Given the description of an element on the screen output the (x, y) to click on. 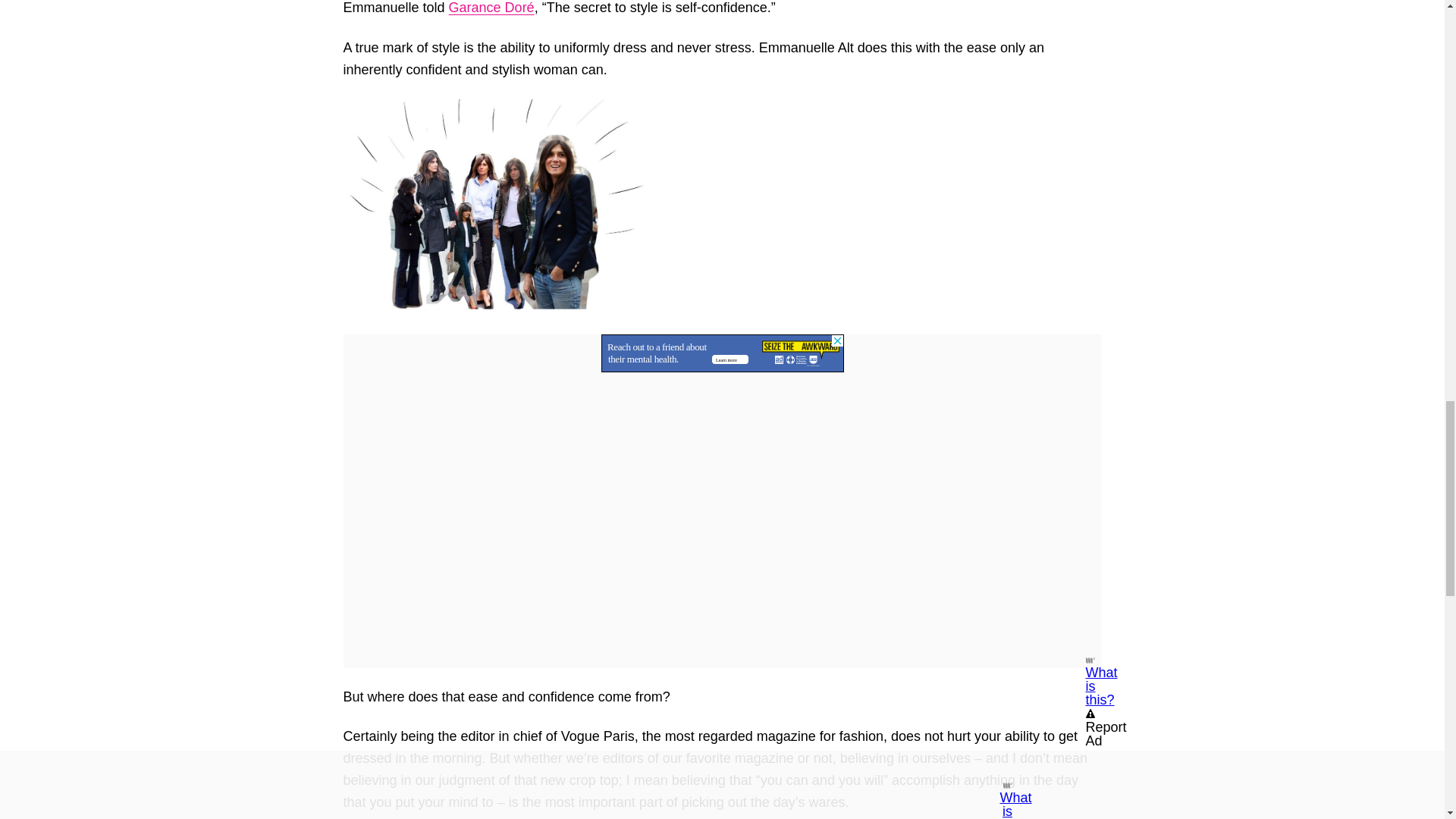
3rd party ad content (721, 353)
